Given the description of an element on the screen output the (x, y) to click on. 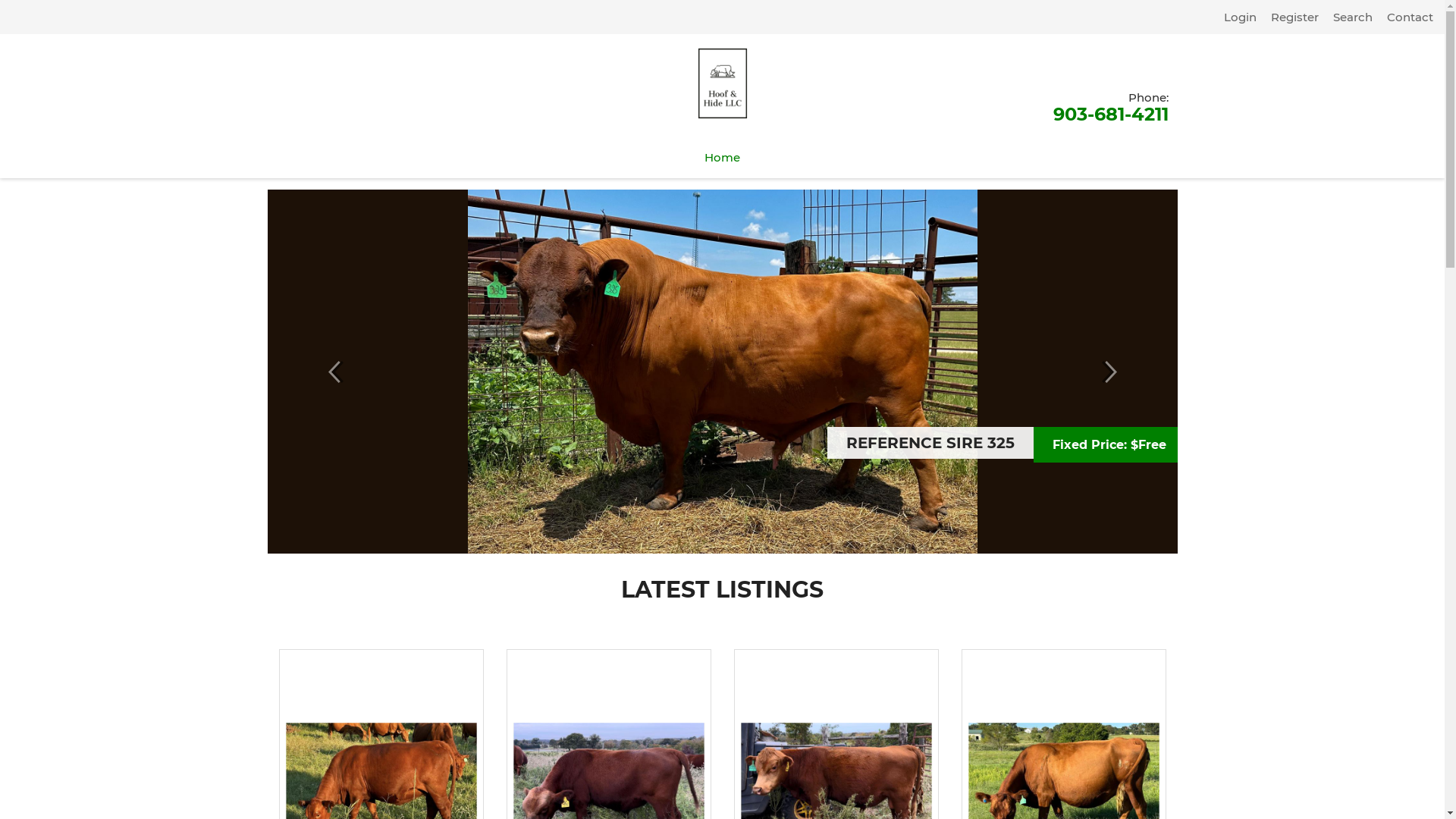
Home Element type: text (722, 157)
Next Element type: text (1108, 371)
Contact Element type: text (1404, 17)
Login Element type: text (1234, 17)
Register Element type: text (1288, 17)
Fixed Price: $Free Element type: text (1220, 444)
Phone:
903-681-4211 Element type: text (1109, 105)
$Free Element type: text (393, 444)
Previous Element type: text (334, 371)
Search Element type: text (1346, 17)
